Given the description of an element on the screen output the (x, y) to click on. 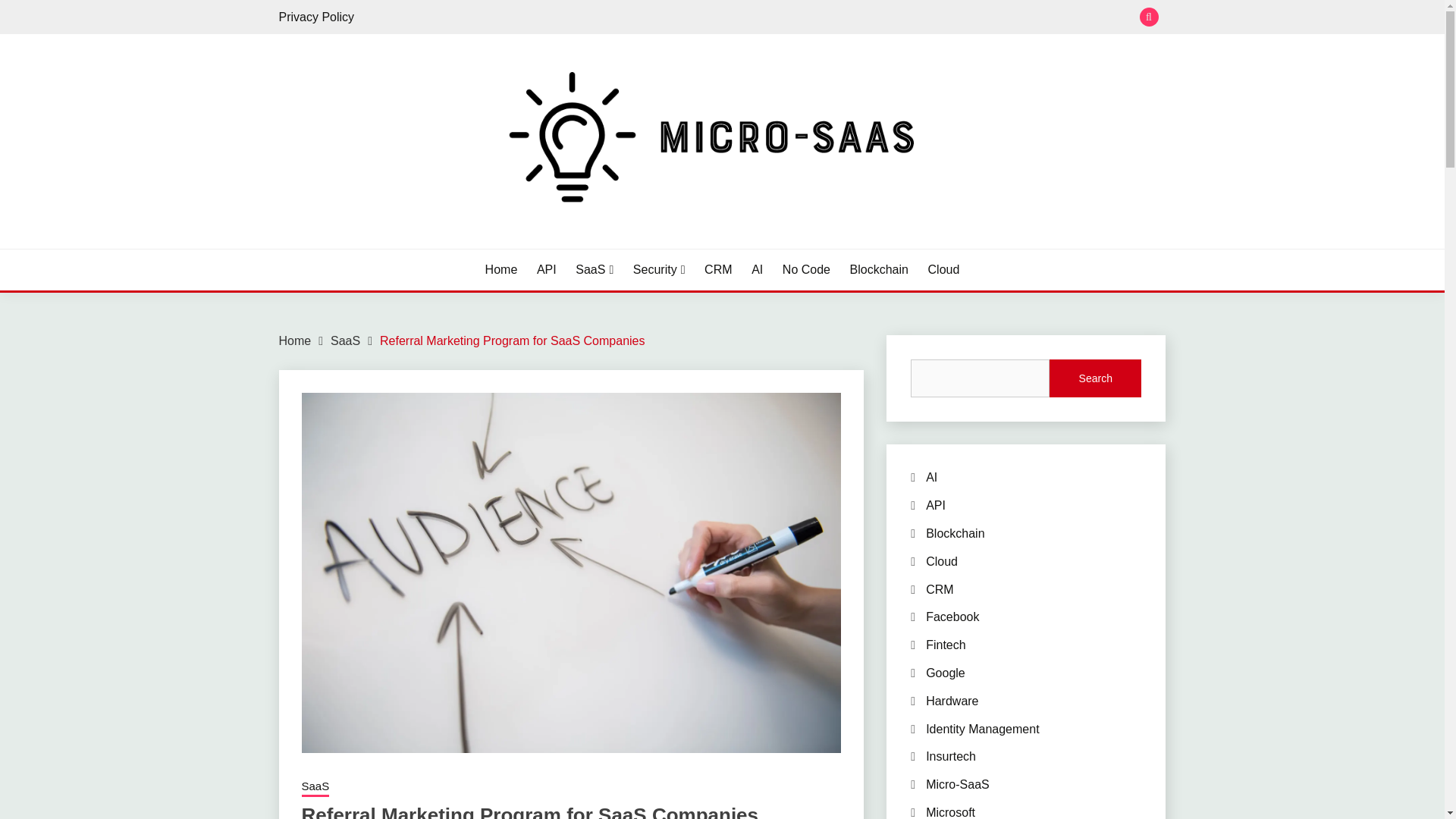
Home (295, 340)
SaaS (315, 787)
Referral Marketing Program for SaaS Companies (512, 340)
Home (501, 270)
CRM (718, 270)
Blockchain (879, 270)
Cloud (943, 270)
SaaS (593, 270)
No Code (806, 270)
Security (659, 270)
